Given the description of an element on the screen output the (x, y) to click on. 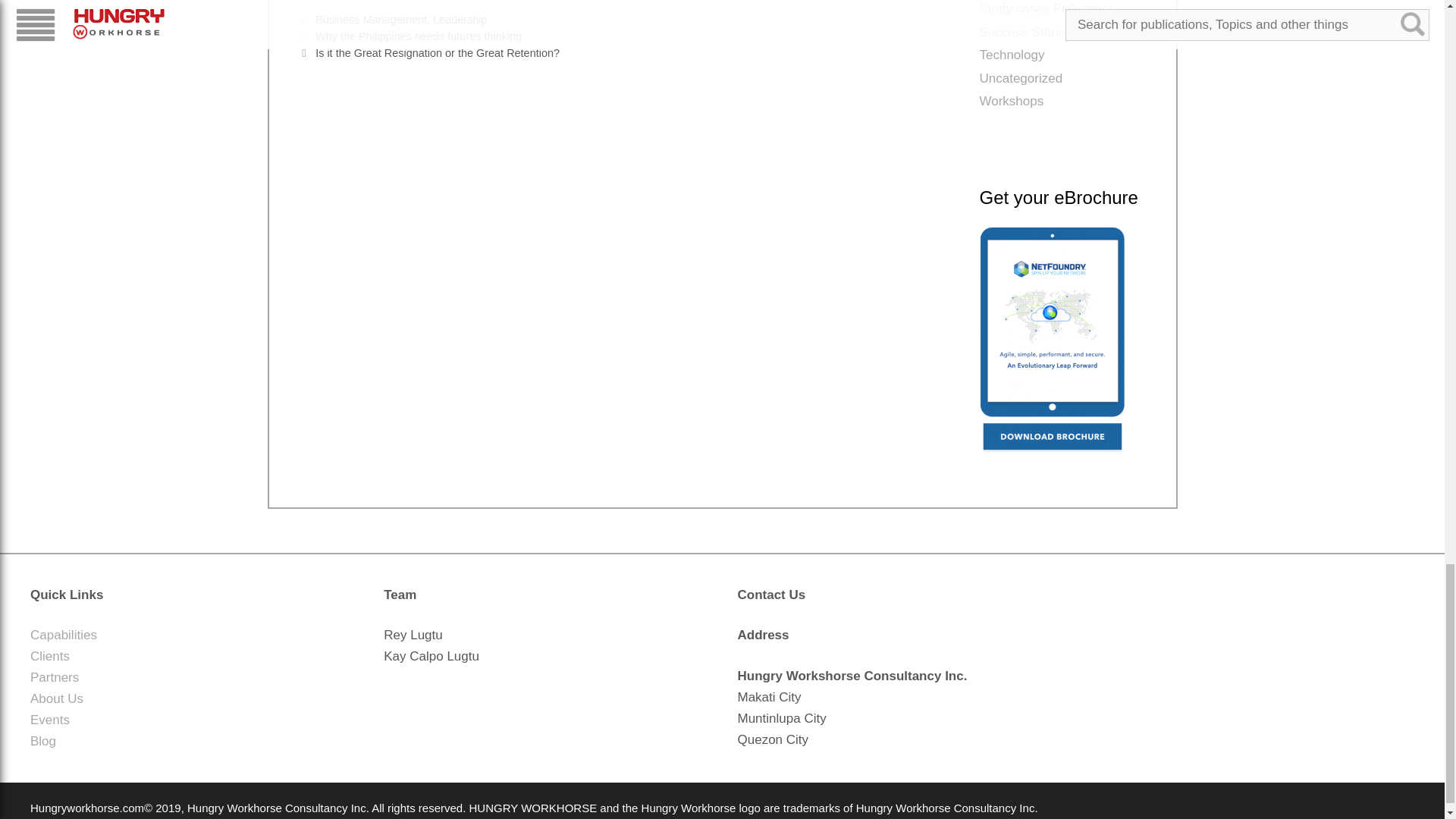
Why the Philippines needs futures thinking (418, 36)
Business Management (370, 19)
Is it the Great Resignation or the Great Retention? (437, 52)
Leadership (459, 19)
